Given the description of an element on the screen output the (x, y) to click on. 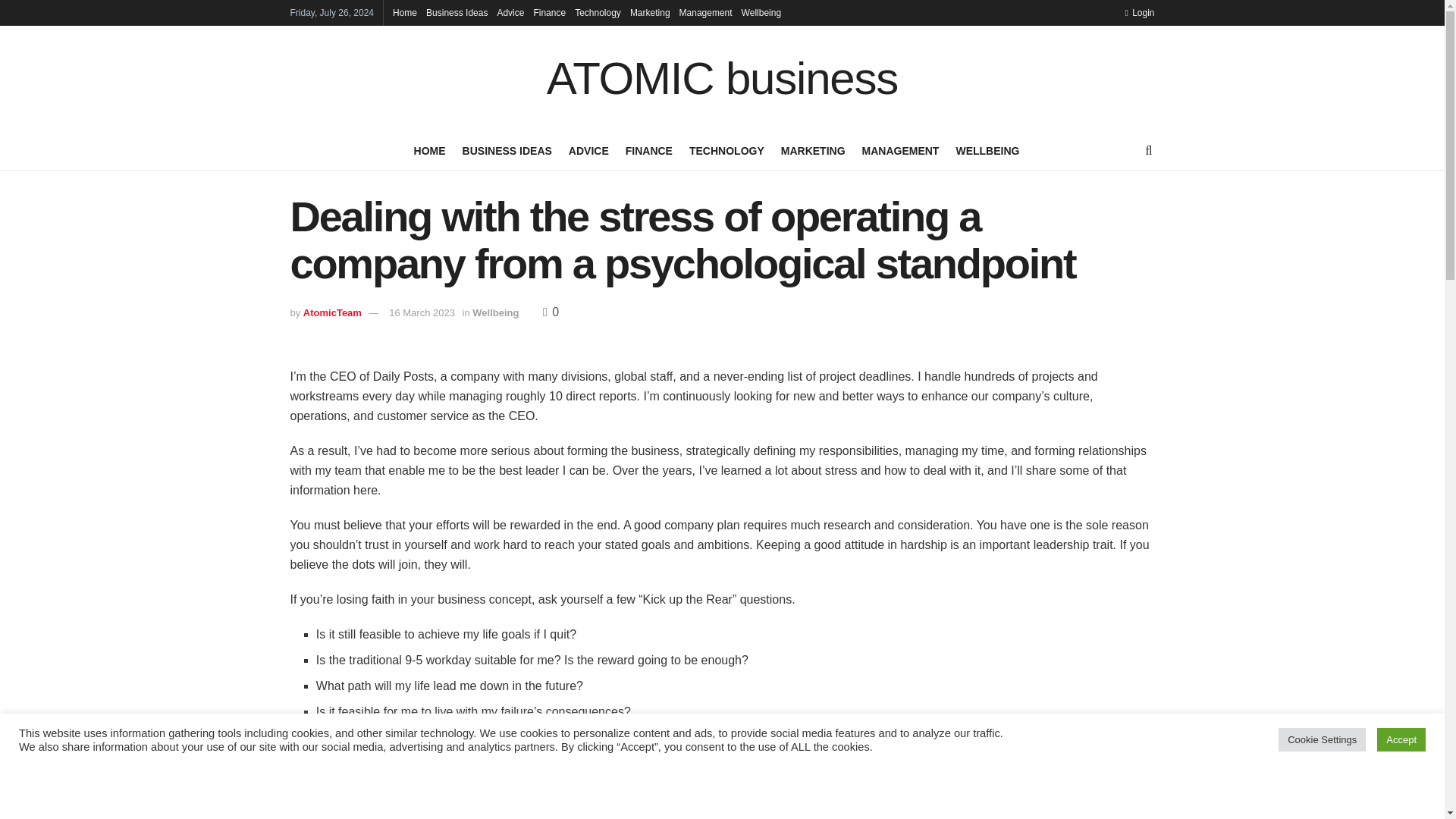
FINANCE (649, 150)
16 March 2023 (421, 312)
TECHNOLOGY (726, 150)
AtomicTeam (331, 312)
HOME (429, 150)
Wellbeing (494, 312)
0 (551, 311)
BUSINESS IDEAS (507, 150)
Finance (549, 12)
Wellbeing (760, 12)
WELLBEING (987, 150)
Advice (510, 12)
Login (1139, 12)
ATOMIC business (722, 78)
Business Ideas (456, 12)
